Given the description of an element on the screen output the (x, y) to click on. 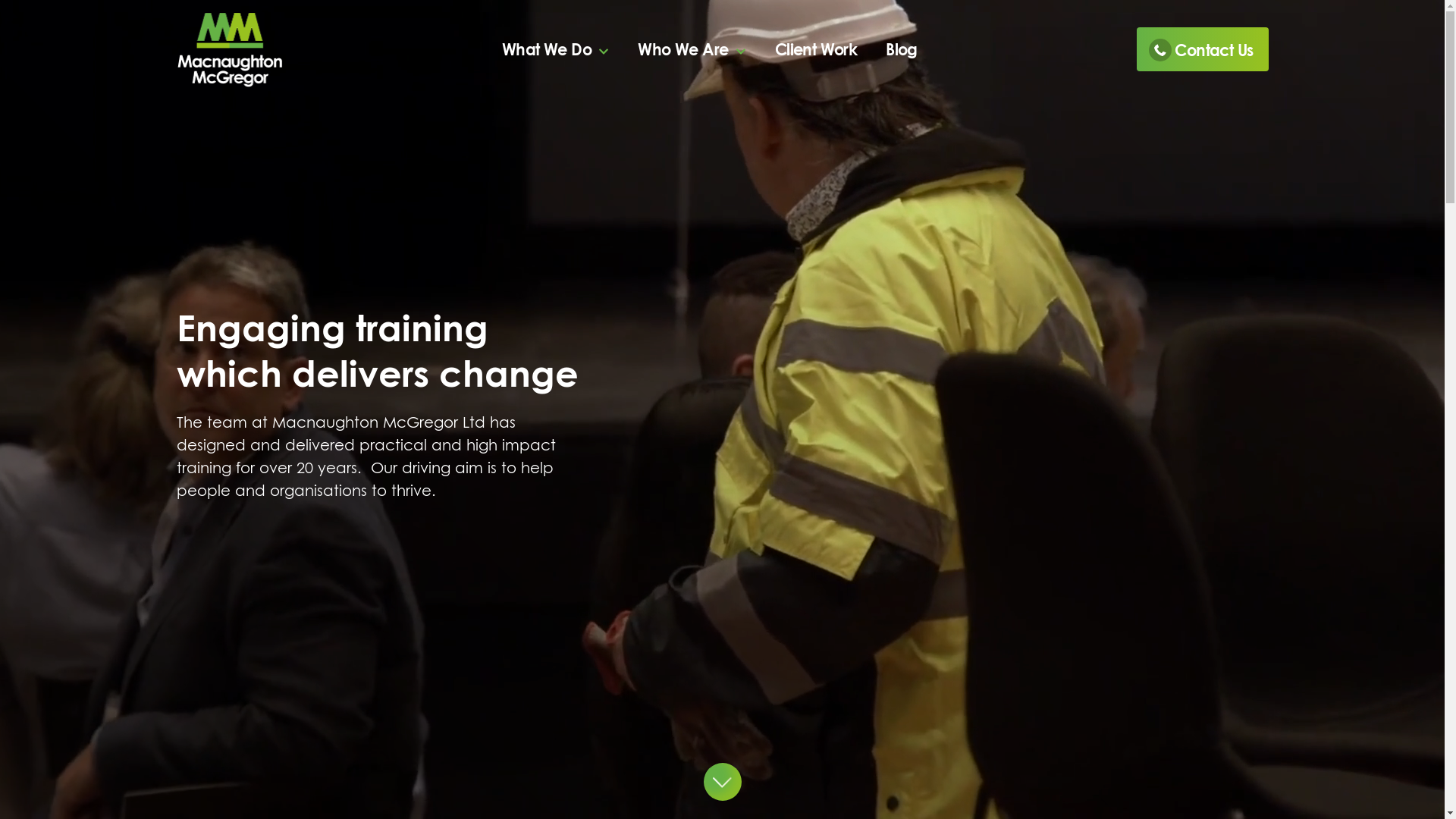
Visit our Homepage Element type: hover (228, 47)
Contact Us Element type: text (1201, 49)
Who We Are Element type: text (691, 49)
Scroll for more Element type: hover (722, 781)
Client Work Element type: text (815, 49)
What We Do Element type: text (555, 49)
Blog Element type: text (901, 49)
